Given the description of an element on the screen output the (x, y) to click on. 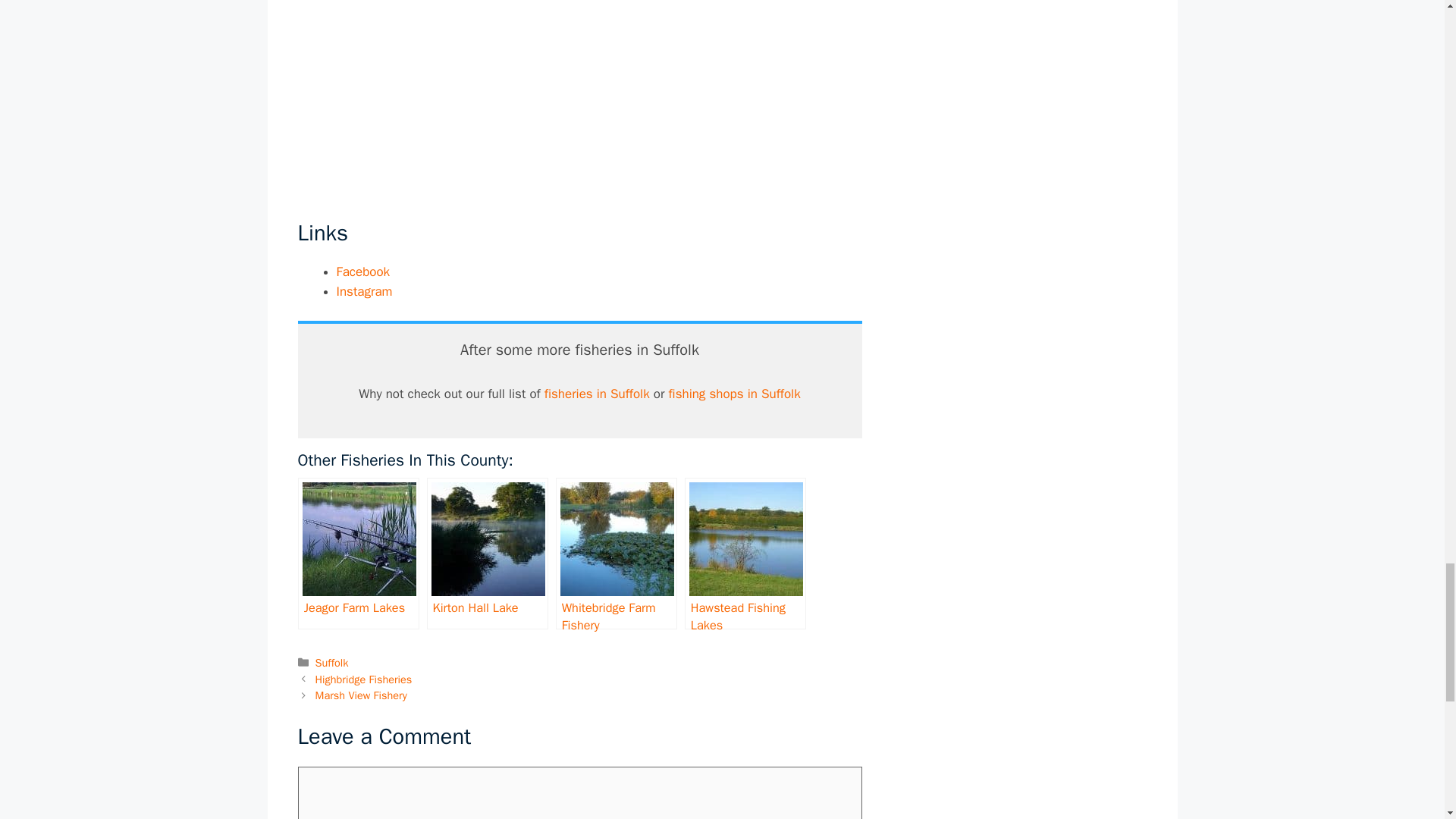
YouTube video player (579, 97)
